Given the description of an element on the screen output the (x, y) to click on. 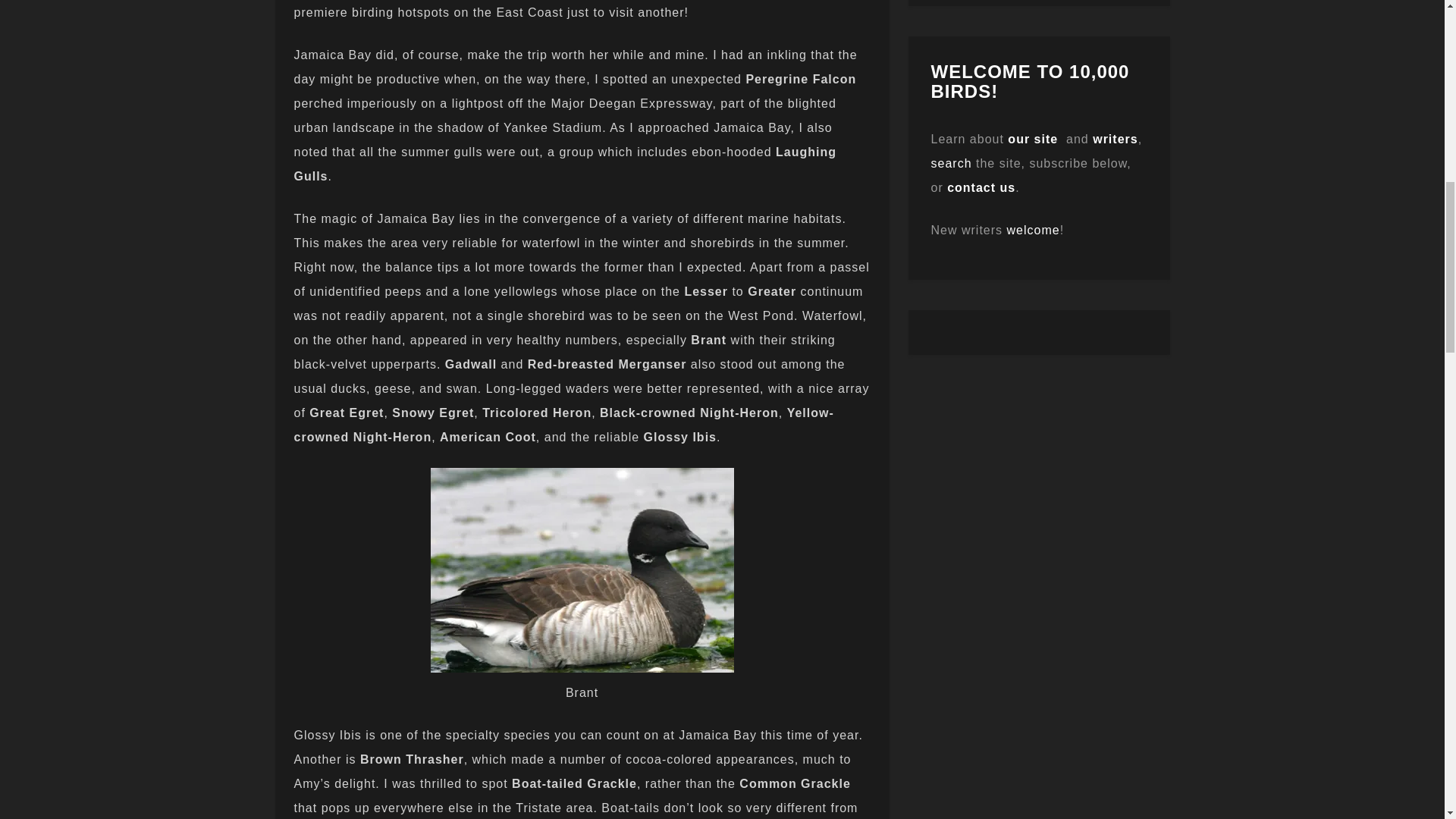
Brant (581, 569)
